Given the description of an element on the screen output the (x, y) to click on. 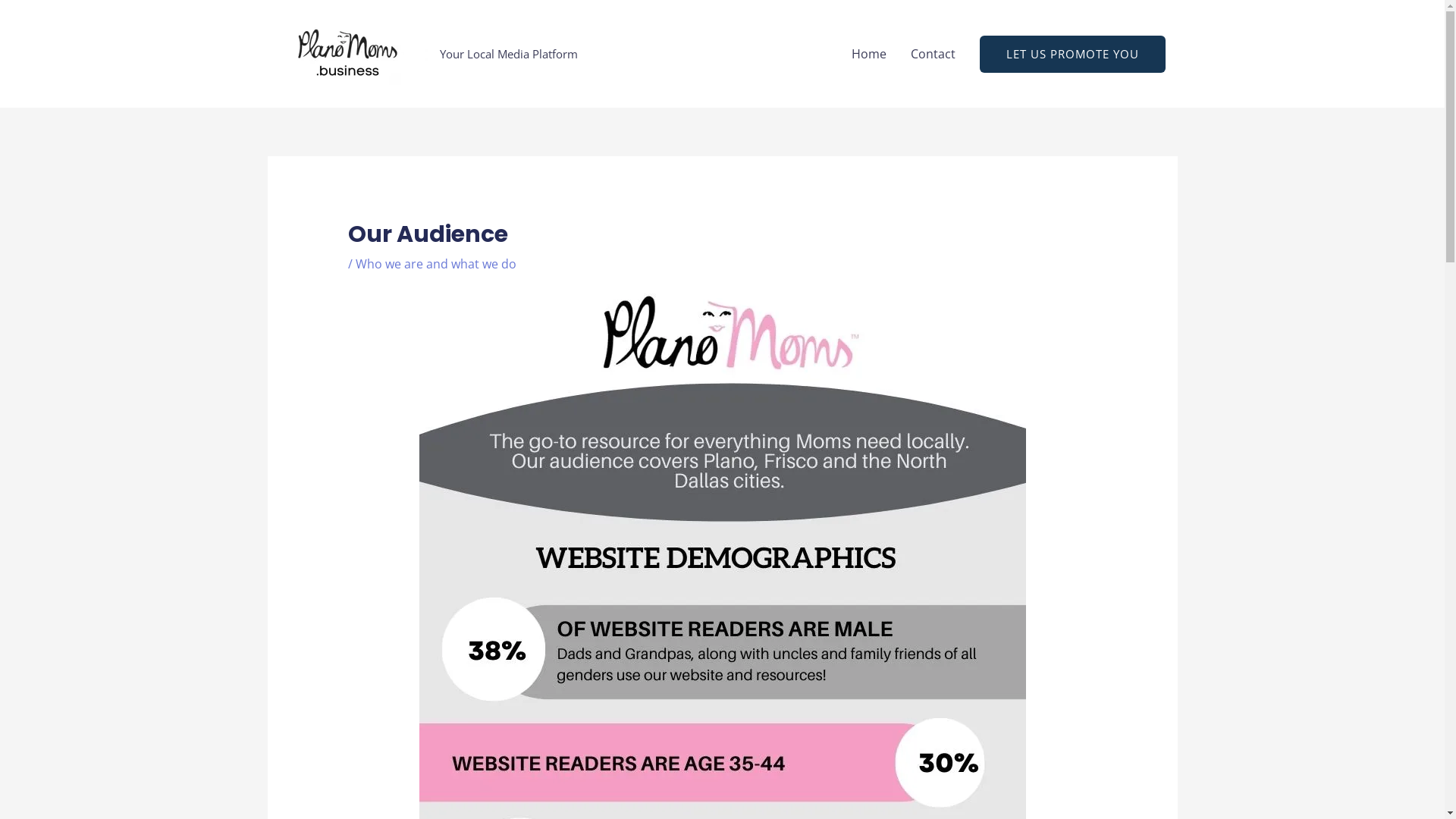
Contact Element type: text (931, 53)
Home Element type: text (867, 53)
Who we are and what we do Element type: text (435, 263)
LET US PROMOTE YOU Element type: text (1072, 53)
